Given the description of an element on the screen output the (x, y) to click on. 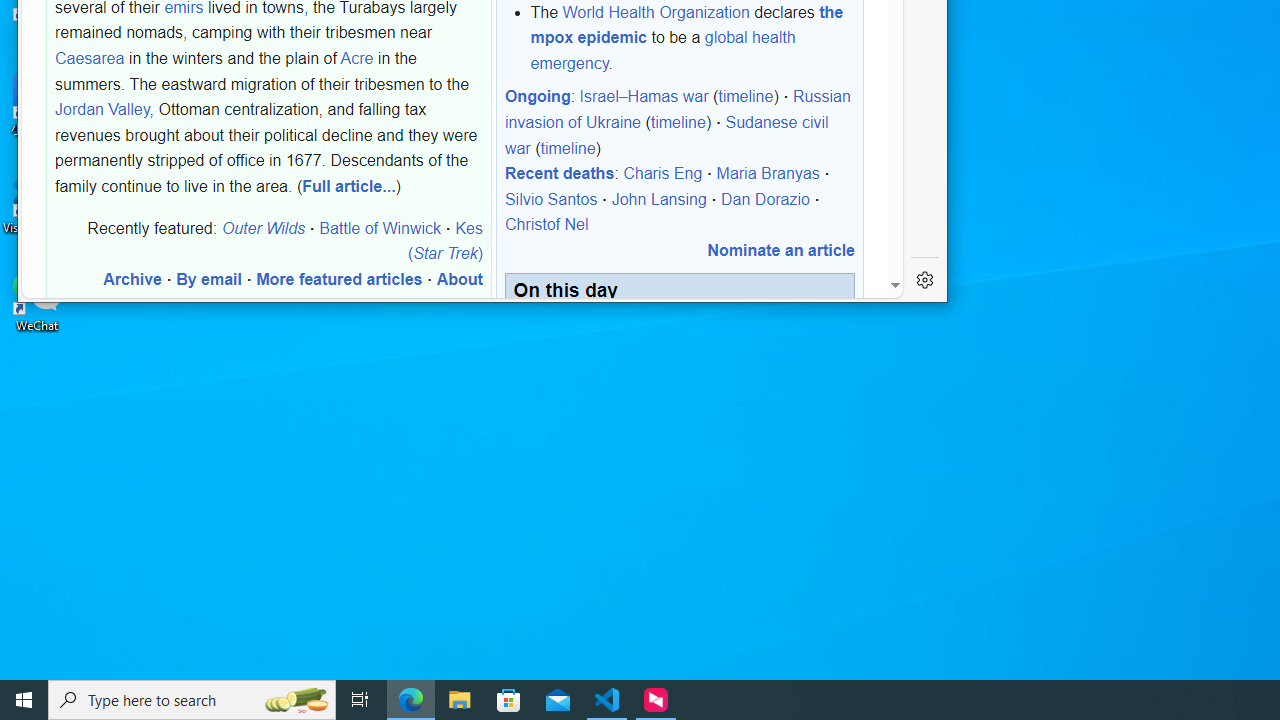
Task View (359, 699)
Microsoft Edge - 1 running window (411, 699)
Start (24, 699)
File Explorer (460, 699)
Visual Studio Code - 1 running window (607, 699)
Type here to search (191, 699)
Microsoft Store (509, 699)
Search highlights icon opens search home window (295, 699)
